Given the description of an element on the screen output the (x, y) to click on. 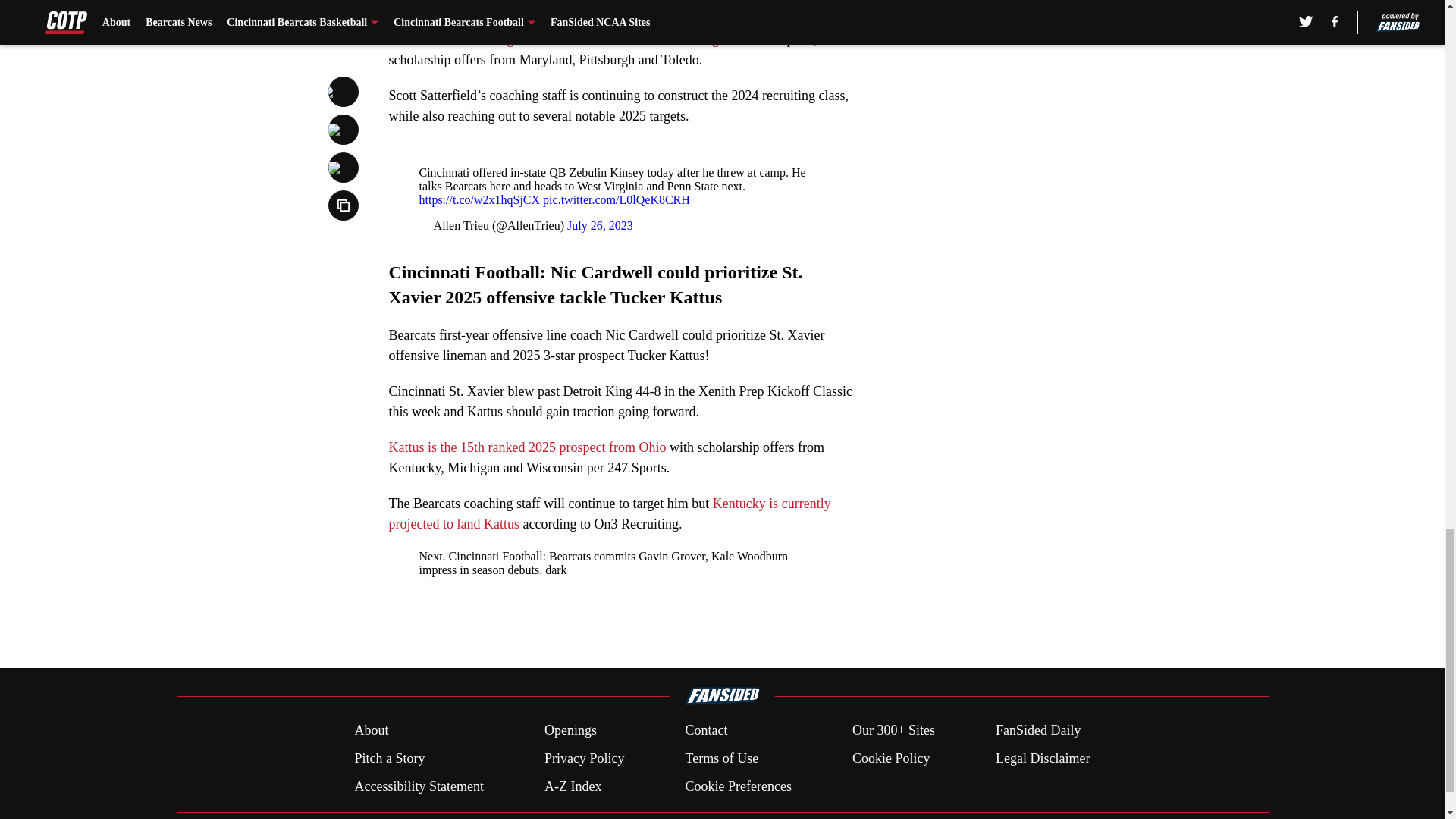
Contact (705, 730)
Thomas is the 10th highest ranked 2025 recruit from Michigan (559, 38)
Kattus is the 15th ranked 2025 prospect from Ohio (526, 447)
Terms of Use (721, 758)
Pitch a Story (389, 758)
Kentucky is currently projected to land Kattus (608, 513)
Openings (570, 730)
FanSided Daily (1038, 730)
July 26, 2023 (600, 225)
About (370, 730)
